Given the description of an element on the screen output the (x, y) to click on. 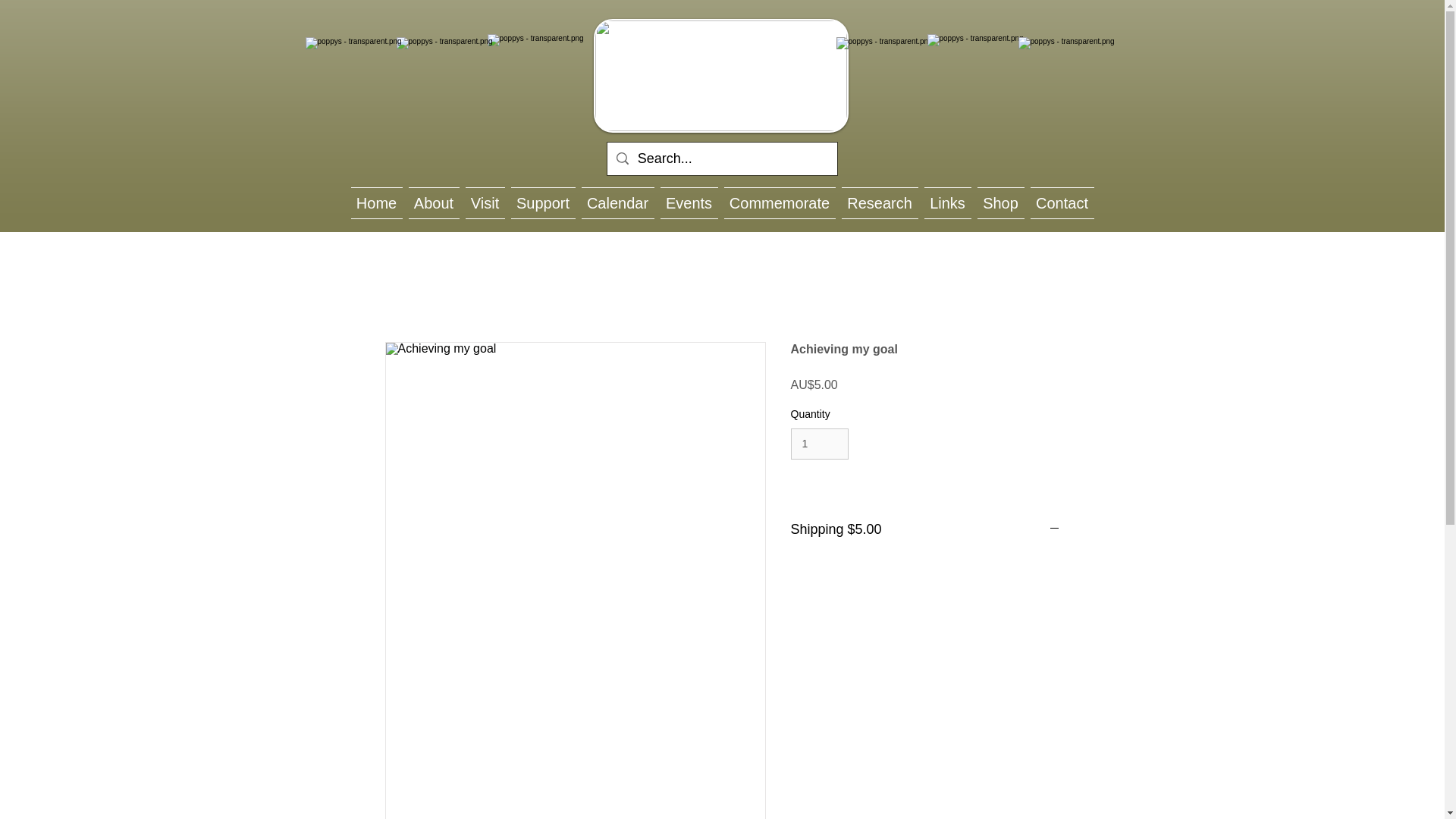
Home (377, 203)
Research (879, 203)
1 (818, 443)
Calendar (617, 203)
About (432, 203)
Events (688, 203)
Visit (485, 203)
Commemorate (779, 203)
Support (543, 203)
